Given the description of an element on the screen output the (x, y) to click on. 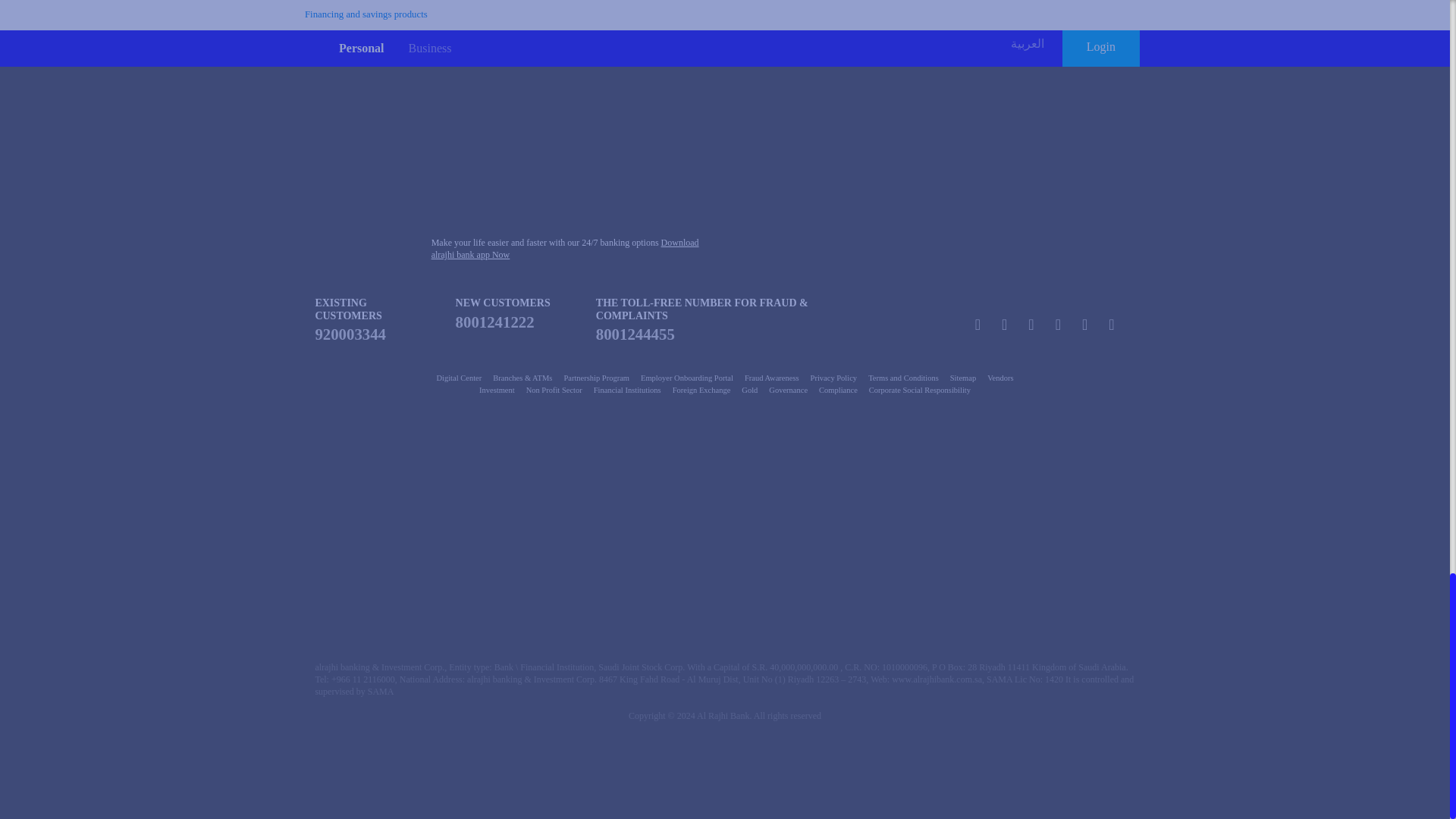
Alrajhi tawtheeq (1062, 470)
Ejada (1075, 589)
Mokafaa (555, 470)
Alrajhi urpay (514, 589)
Our Duty (387, 470)
Tahweel Alrajhi (893, 470)
Alrajhi neoleap (654, 589)
Alrajhi Capital (724, 470)
Offers (339, 29)
Alrajhi emkan (373, 589)
